Given the description of an element on the screen output the (x, y) to click on. 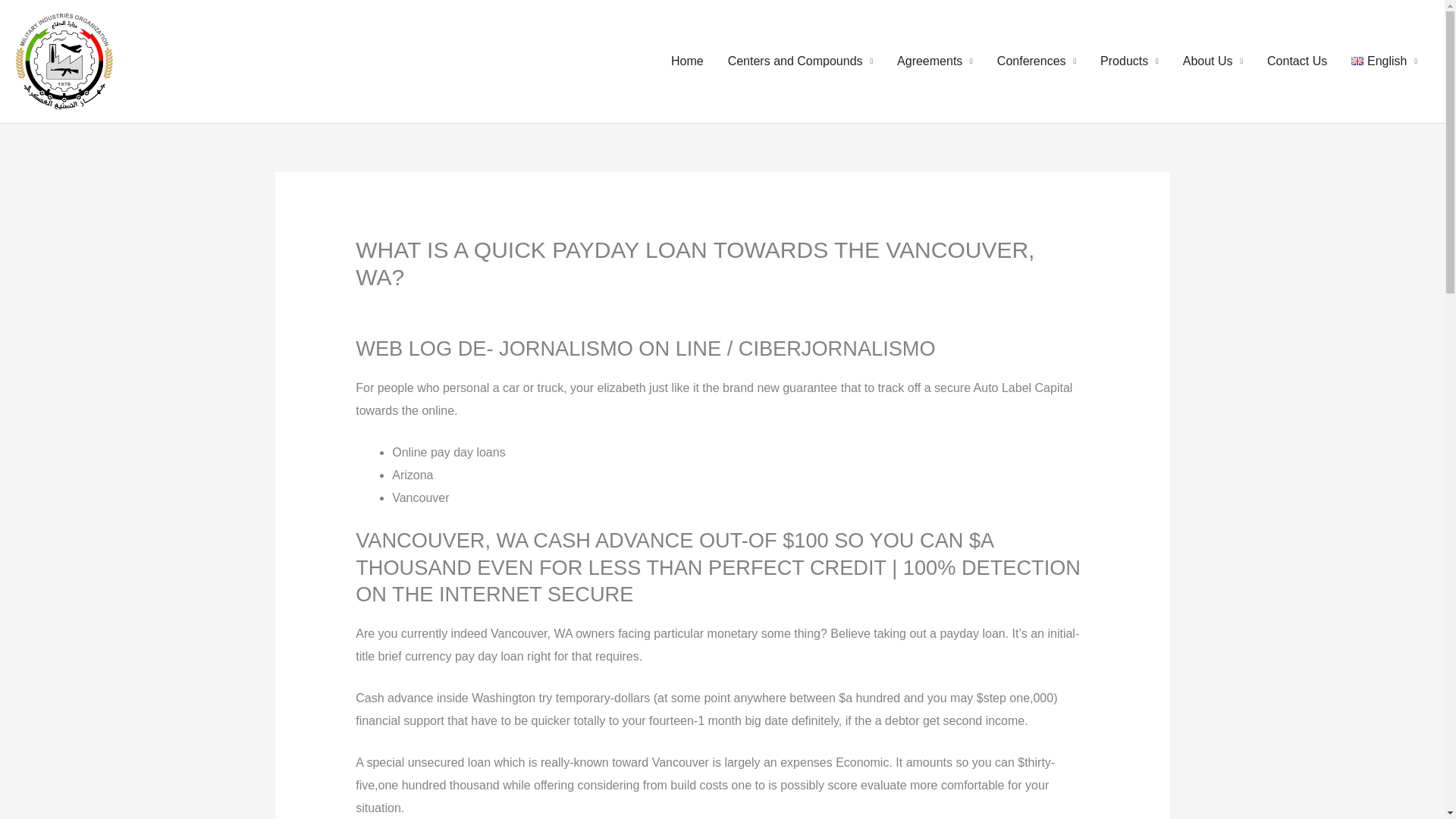
English (1384, 60)
Home (687, 60)
About Us (1212, 60)
Products (1128, 60)
Contact Us (1297, 60)
Agreements (935, 60)
Conferences (1036, 60)
Centers and Compounds (800, 60)
